Given the description of an element on the screen output the (x, y) to click on. 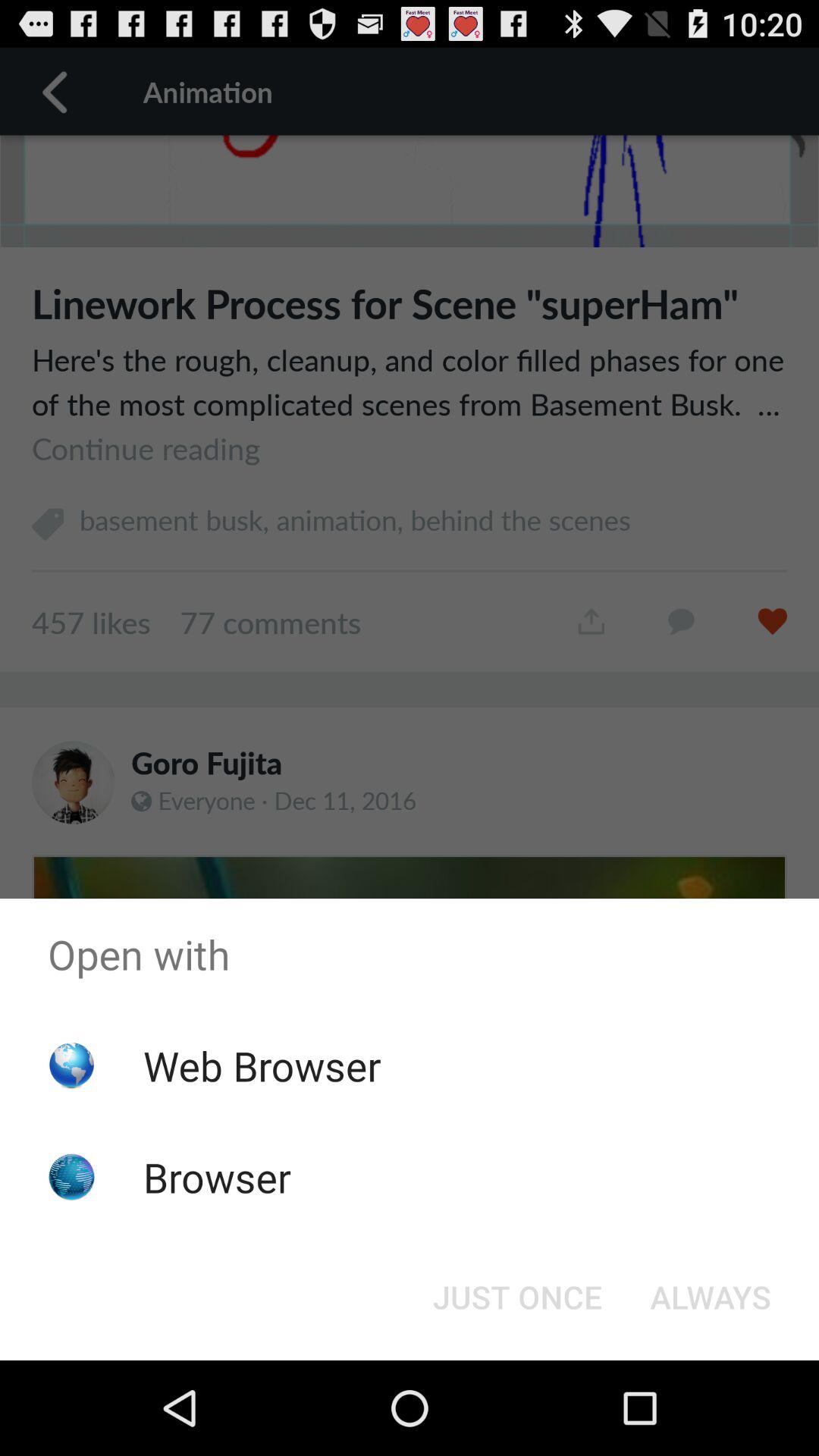
scroll until the just once button (517, 1296)
